Given the description of an element on the screen output the (x, y) to click on. 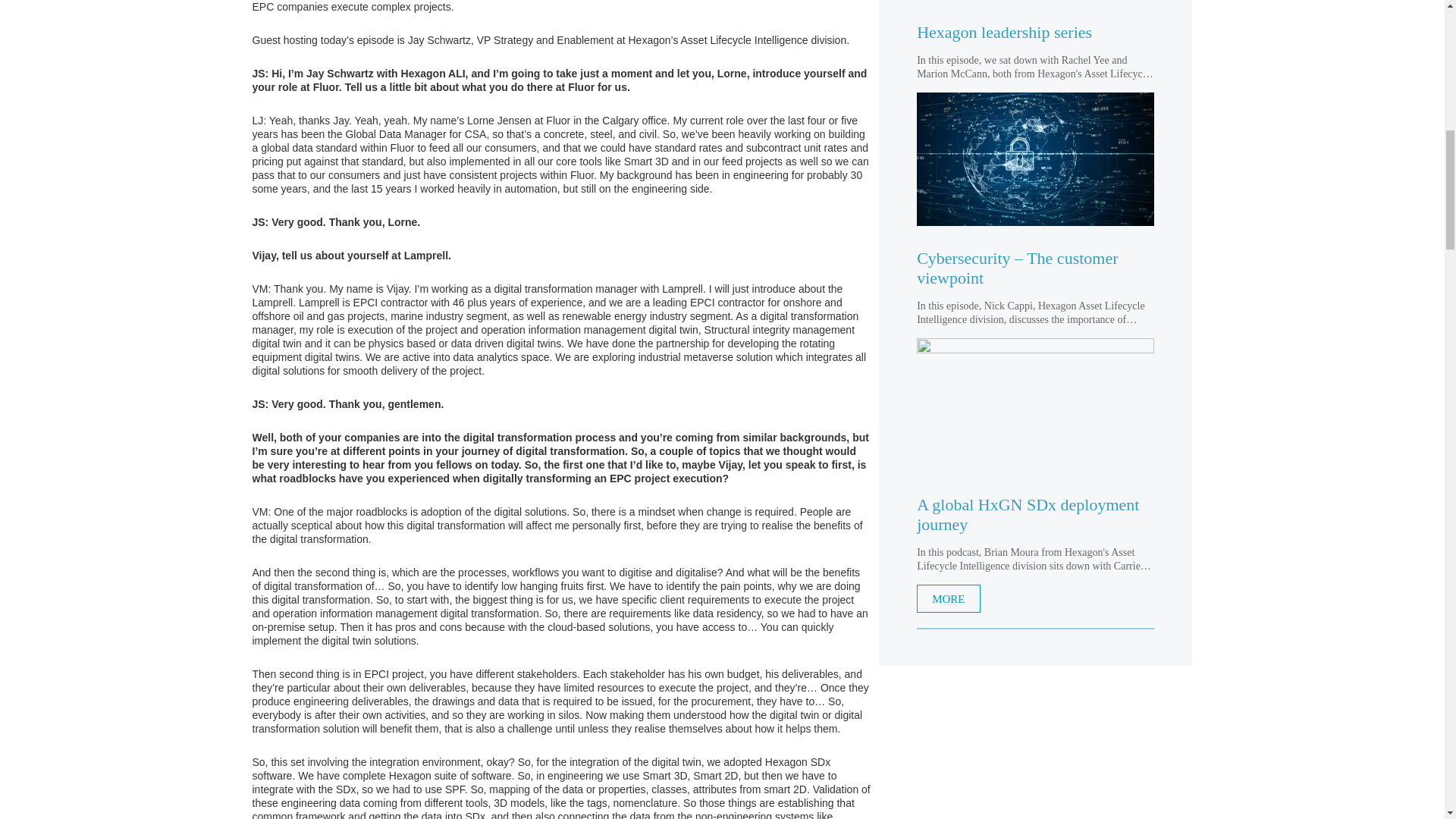
A global HxGN SDx deployment journey (1035, 515)
Hexagon leadership series (1035, 32)
A global HxGN SDx deployment journey (1035, 404)
